Given the description of an element on the screen output the (x, y) to click on. 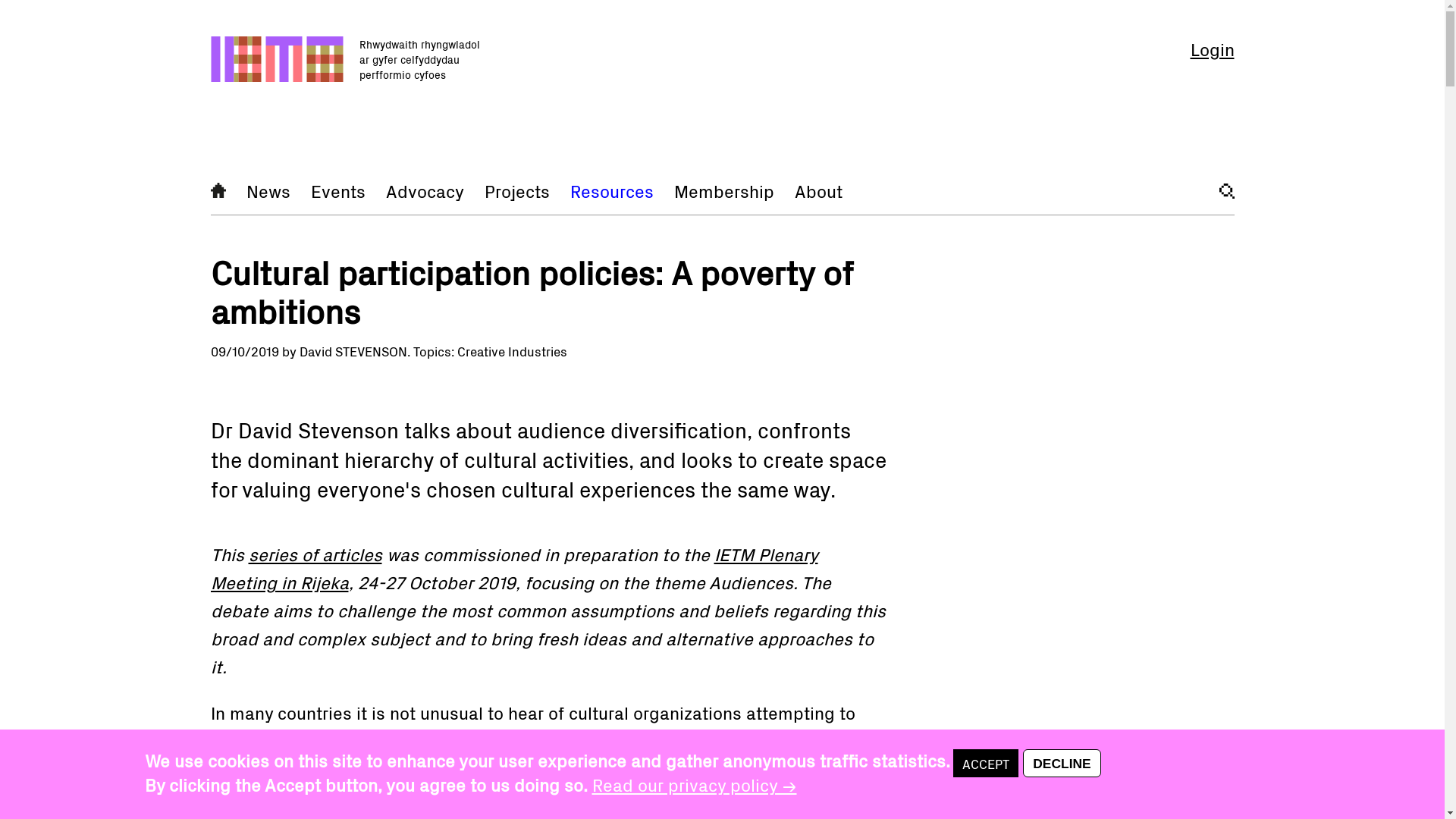
Login (1212, 48)
IETM Plenary Meeting in Rijeka (514, 567)
Advocacy (424, 190)
Search (1227, 191)
Projects (515, 190)
About (818, 190)
Resources (611, 190)
series of articles (314, 553)
Home (218, 190)
Events (338, 190)
News (267, 190)
Membership (722, 190)
